Given the description of an element on the screen output the (x, y) to click on. 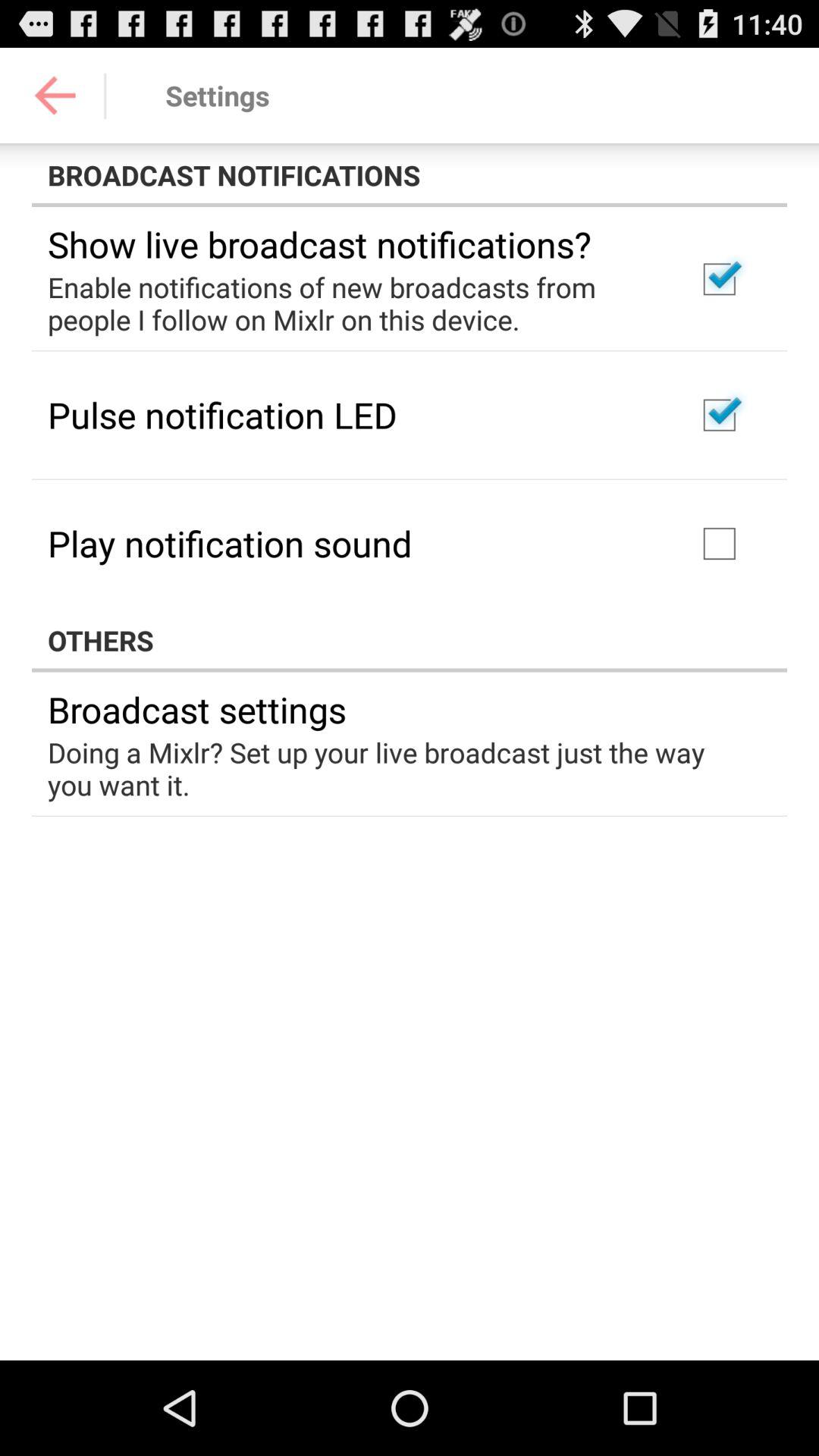
press the icon below the broadcast settings item (399, 768)
